Given the description of an element on the screen output the (x, y) to click on. 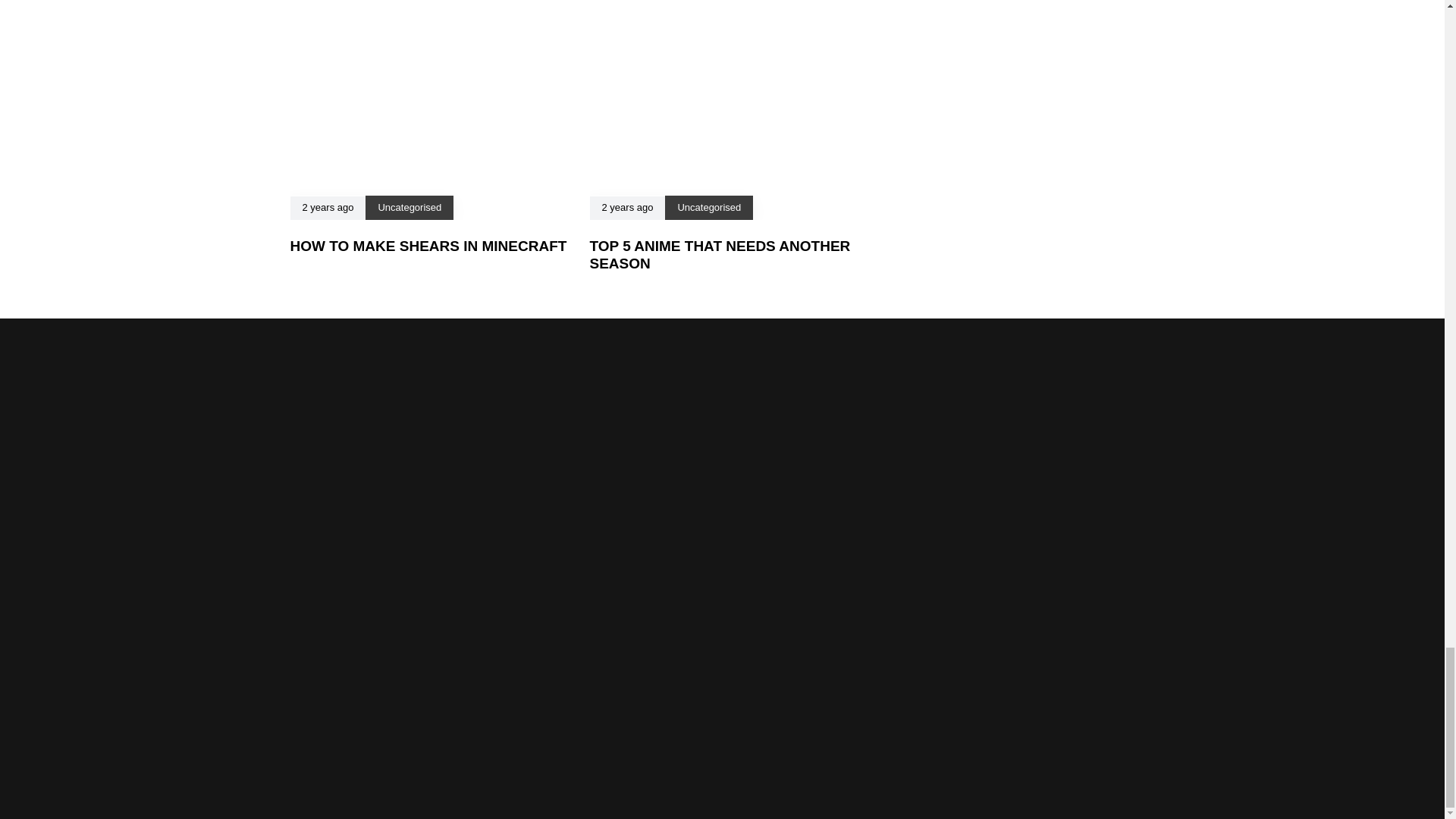
HOW TO MAKE SHEARS IN MINECRAFT (427, 245)
Uncategorised (709, 206)
Uncategorised (409, 206)
TOP 5 ANIME THAT NEEDS ANOTHER SEASON (719, 254)
